Given the description of an element on the screen output the (x, y) to click on. 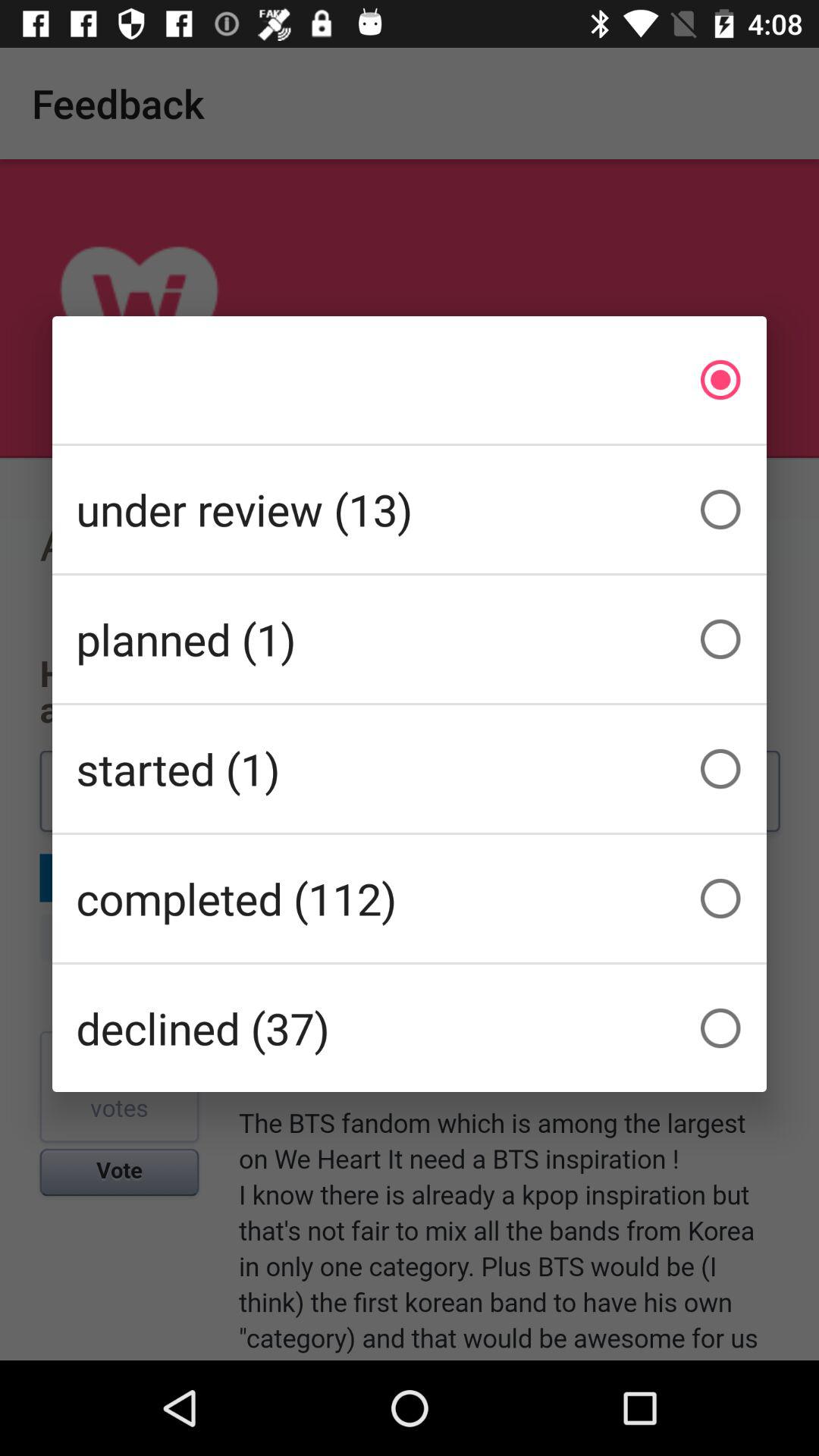
click icon above the under review (13) icon (409, 379)
